Given the description of an element on the screen output the (x, y) to click on. 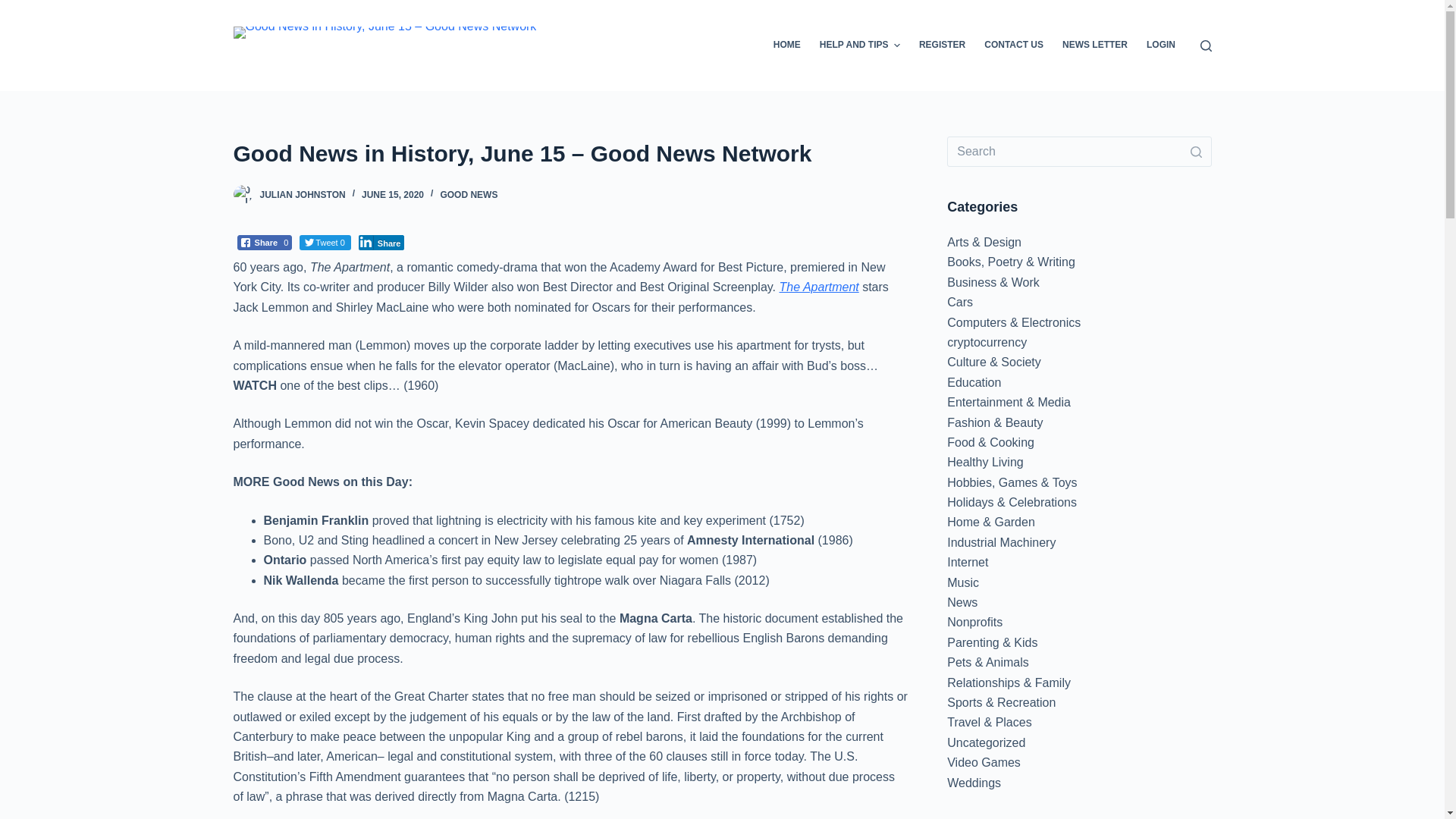
Skip to content (15, 7)
Posts by Julian Johnston (302, 194)
Search for... (1079, 151)
